Given the description of an element on the screen output the (x, y) to click on. 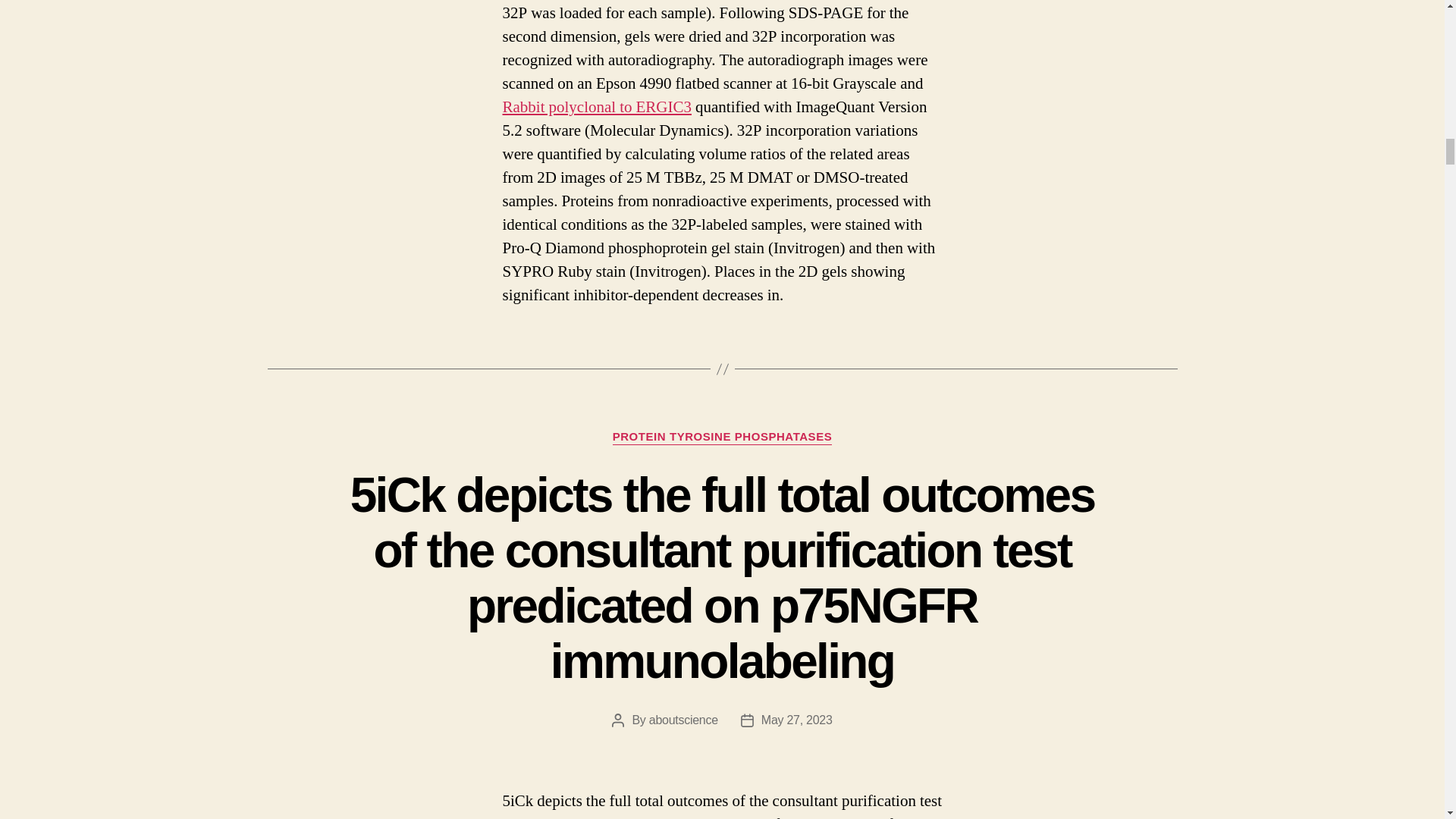
aboutscience (683, 719)
PROTEIN TYROSINE PHOSPHATASES (722, 437)
May 27, 2023 (796, 719)
Rabbit polyclonal to ERGIC3 (596, 107)
